Given the description of an element on the screen output the (x, y) to click on. 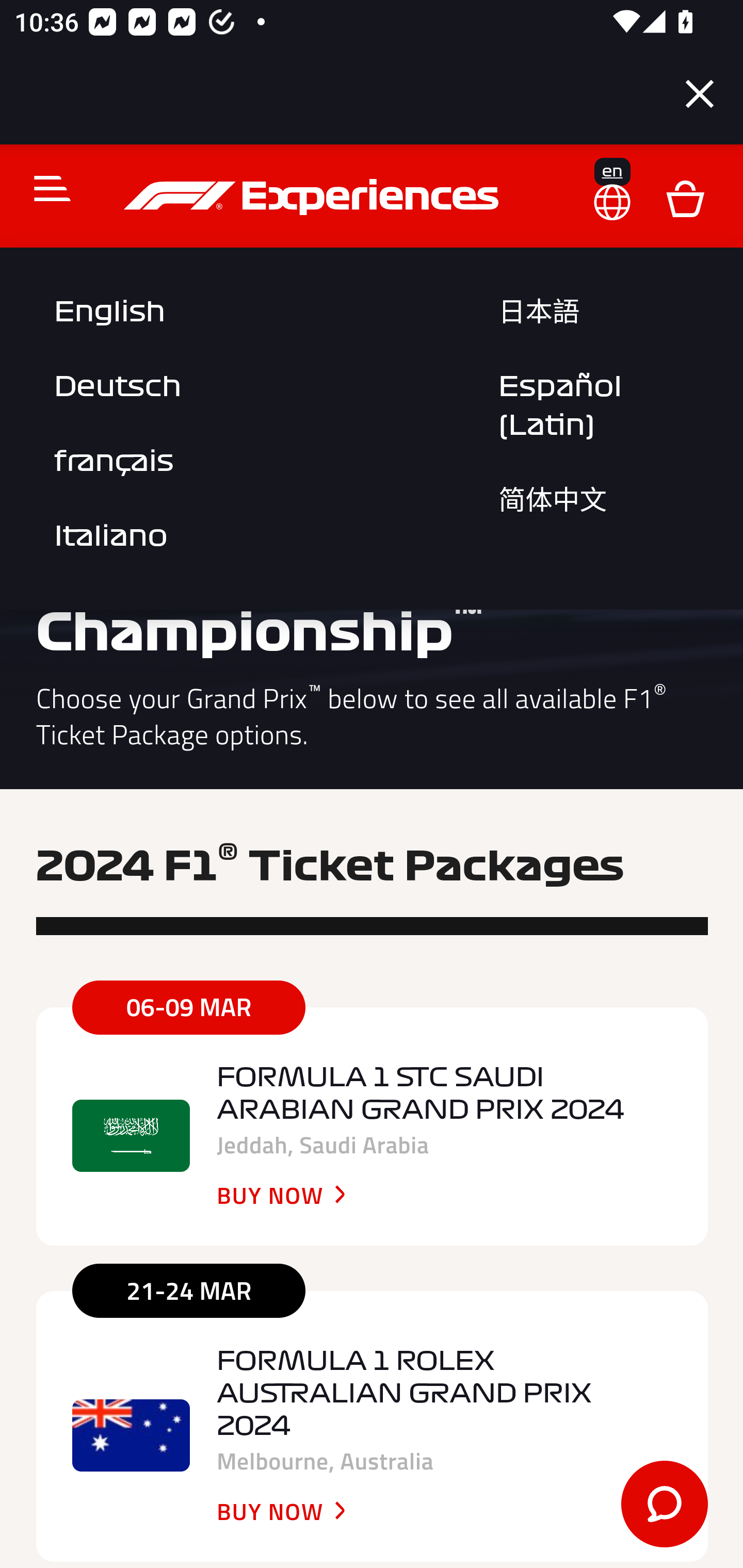
Close (699, 93)
Toggle navigation C (43, 188)
D (684, 197)
f1experiences (313, 197)
